Given the description of an element on the screen output the (x, y) to click on. 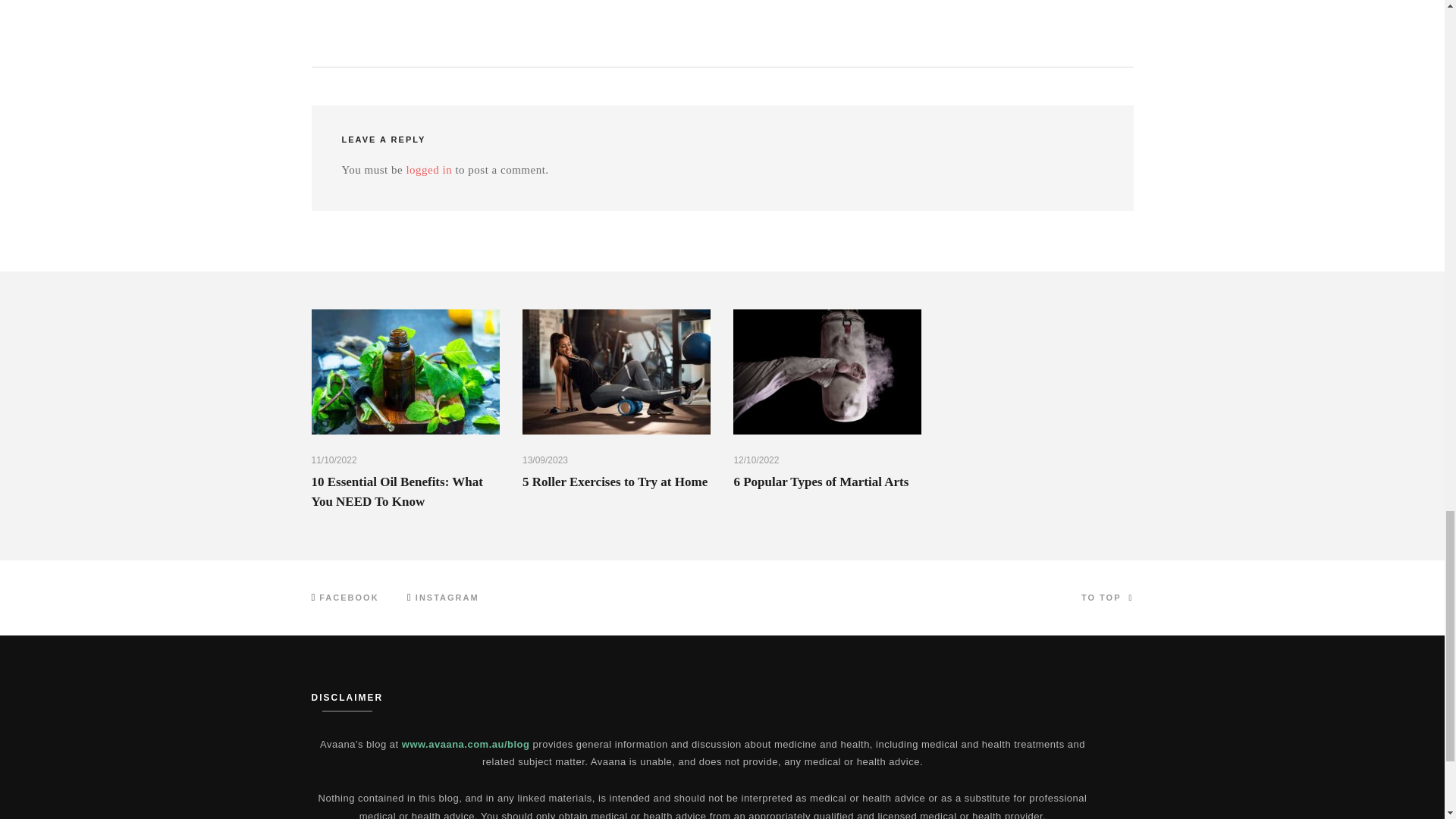
5 Roller Exercises to Try at Home (614, 481)
logged in (428, 169)
TO TOP (1107, 597)
10 Essential Oil Benefits: What You NEED To Know (396, 491)
